Given the description of an element on the screen output the (x, y) to click on. 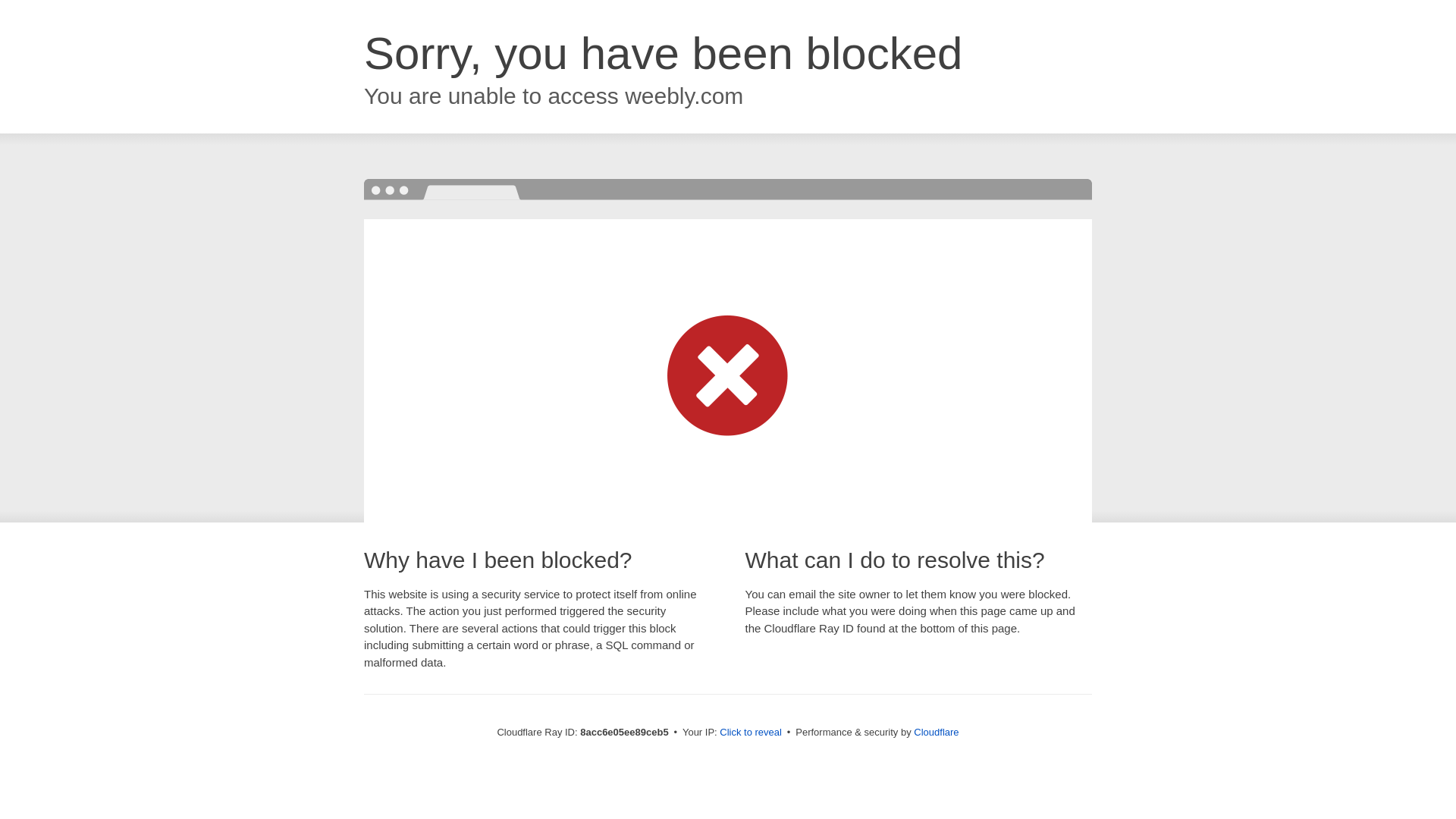
Cloudflare (936, 731)
Click to reveal (750, 732)
